Given the description of an element on the screen output the (x, y) to click on. 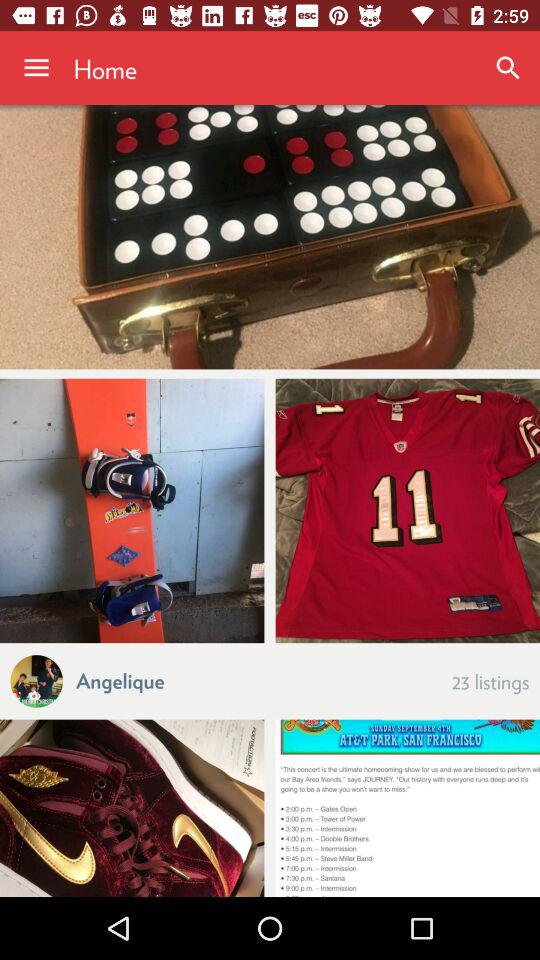
choose the item at the top right corner (508, 67)
